Given the description of an element on the screen output the (x, y) to click on. 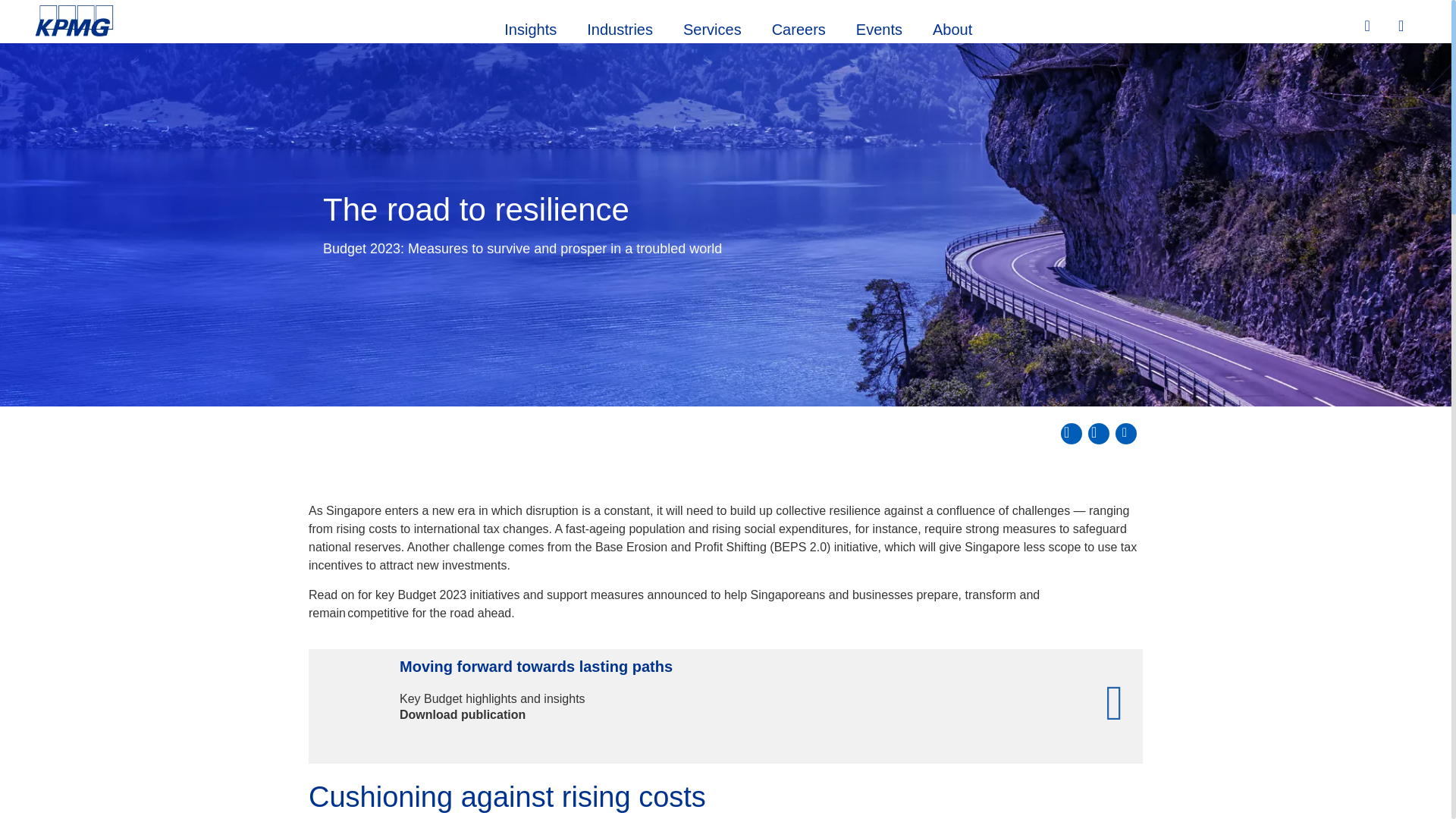
Industries (620, 27)
Events (879, 27)
Insights (530, 27)
Search (1369, 26)
About (952, 27)
Careers (799, 27)
Go to bottom of page (1126, 433)
Services (712, 27)
Download The road to resilience pdf Opens in a new window (1071, 433)
Site Selector (1402, 26)
